Given the description of an element on the screen output the (x, y) to click on. 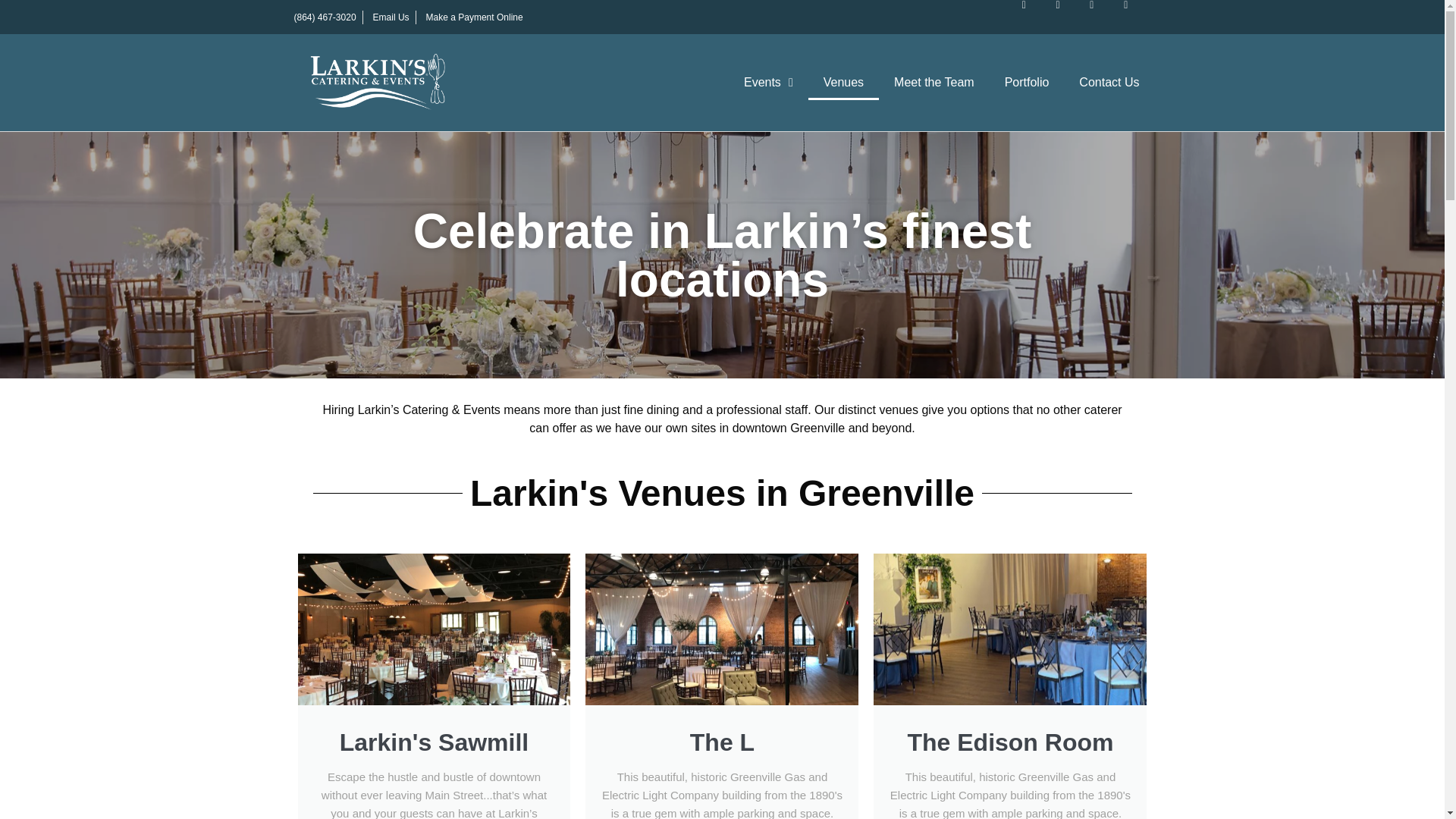
Events (768, 82)
Contact Us (1109, 82)
Email Us (389, 17)
Portfolio (1027, 82)
Venues (843, 82)
Meet the Team (934, 82)
Make a Payment Online (472, 17)
